Given the description of an element on the screen output the (x, y) to click on. 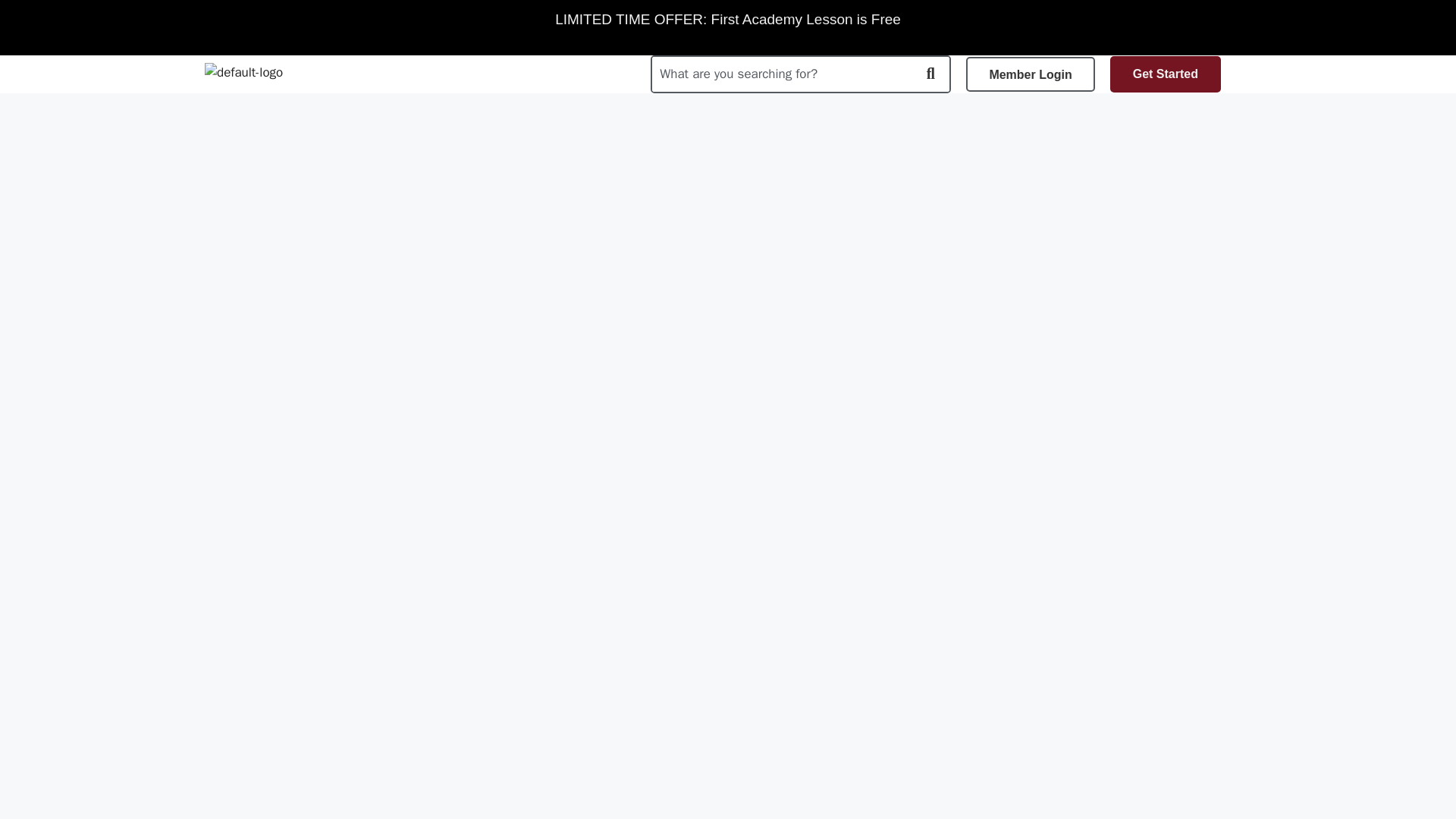
LIMITED TIME OFFER: First Academy Lesson is Free (727, 19)
Member Login (1030, 73)
Get Started (1165, 74)
Search (781, 73)
